Given the description of an element on the screen output the (x, y) to click on. 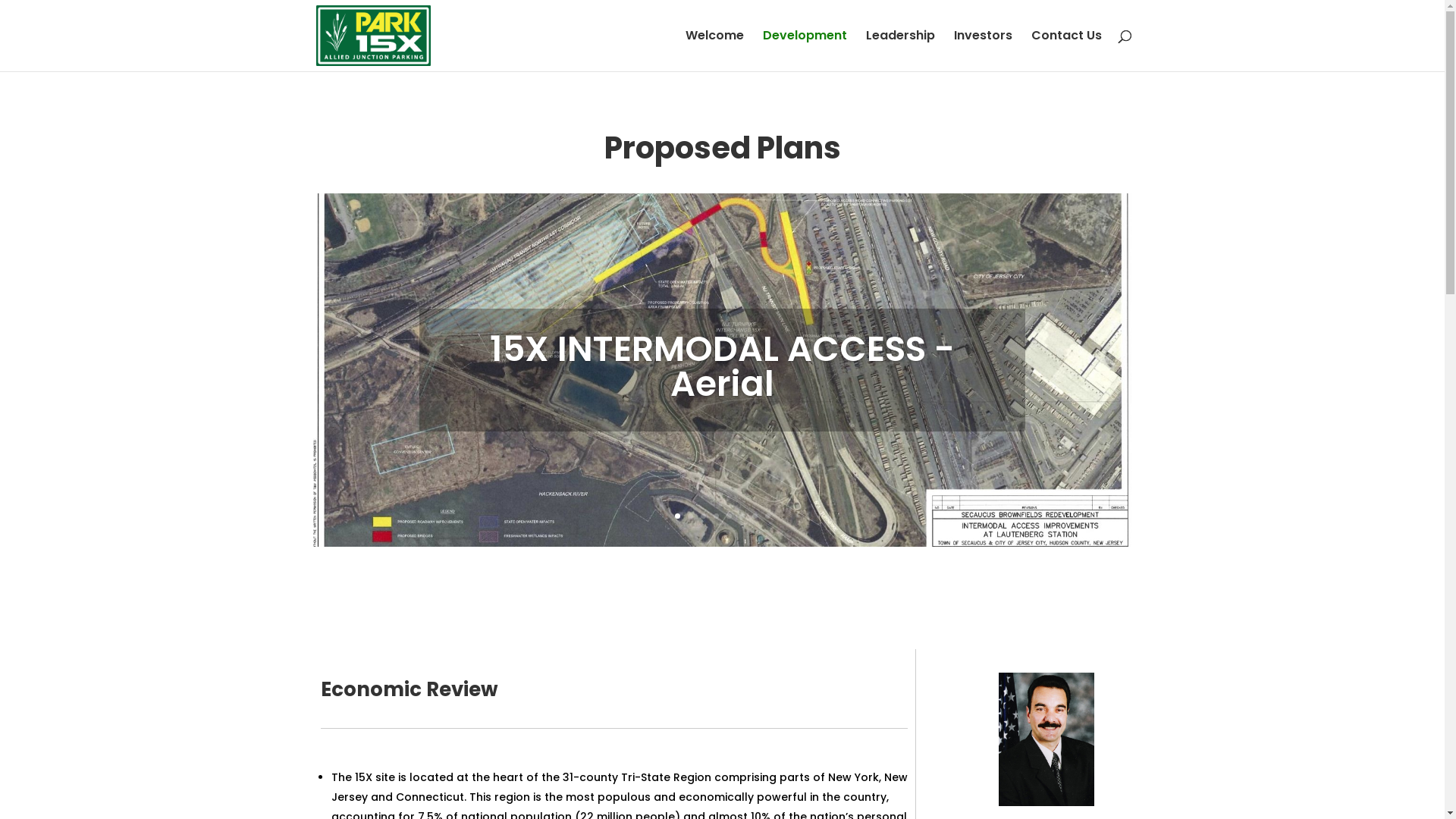
Welcome Element type: text (714, 50)
Contact Us Element type: text (1066, 50)
Leadership Element type: text (900, 50)
8 Element type: text (766, 515)
Investors Element type: text (982, 50)
4 Element type: text (715, 515)
1 Element type: text (677, 515)
3 Element type: text (703, 515)
5 Element type: text (728, 515)
7 Element type: text (754, 515)
6 Element type: text (740, 515)
Development Element type: text (804, 50)
2 Element type: text (689, 515)
